Given the description of an element on the screen output the (x, y) to click on. 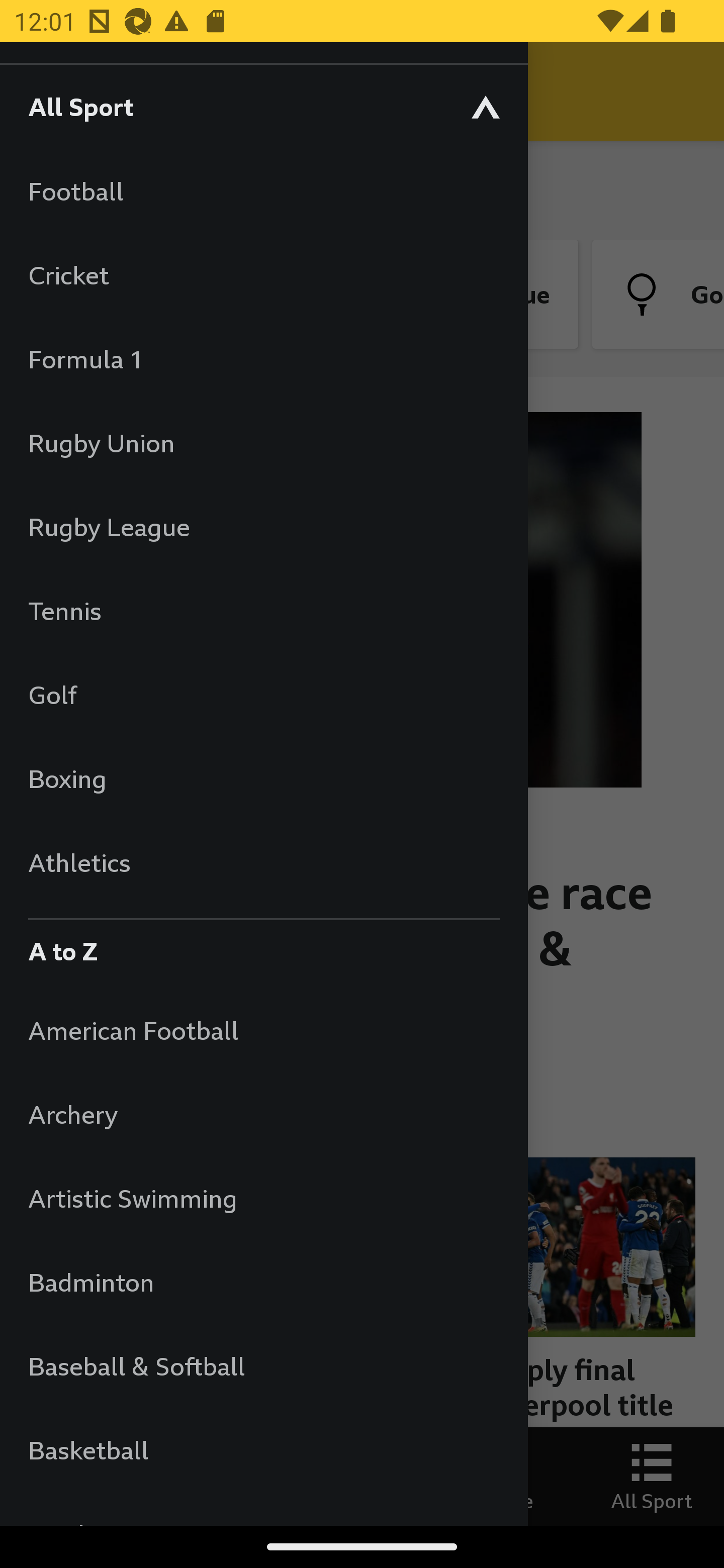
All Sport (263, 105)
Football (263, 190)
Cricket (263, 274)
Formula 1 (263, 358)
Rugby Union (263, 441)
Rugby League (263, 526)
Tennis (263, 609)
Golf (263, 694)
Boxing (263, 778)
Athletics (263, 862)
A to Z (263, 945)
American Football (263, 1029)
Archery (263, 1114)
Artistic Swimming (263, 1197)
Badminton (263, 1282)
Baseball & Softball (263, 1365)
Basketball (263, 1450)
